Given the description of an element on the screen output the (x, y) to click on. 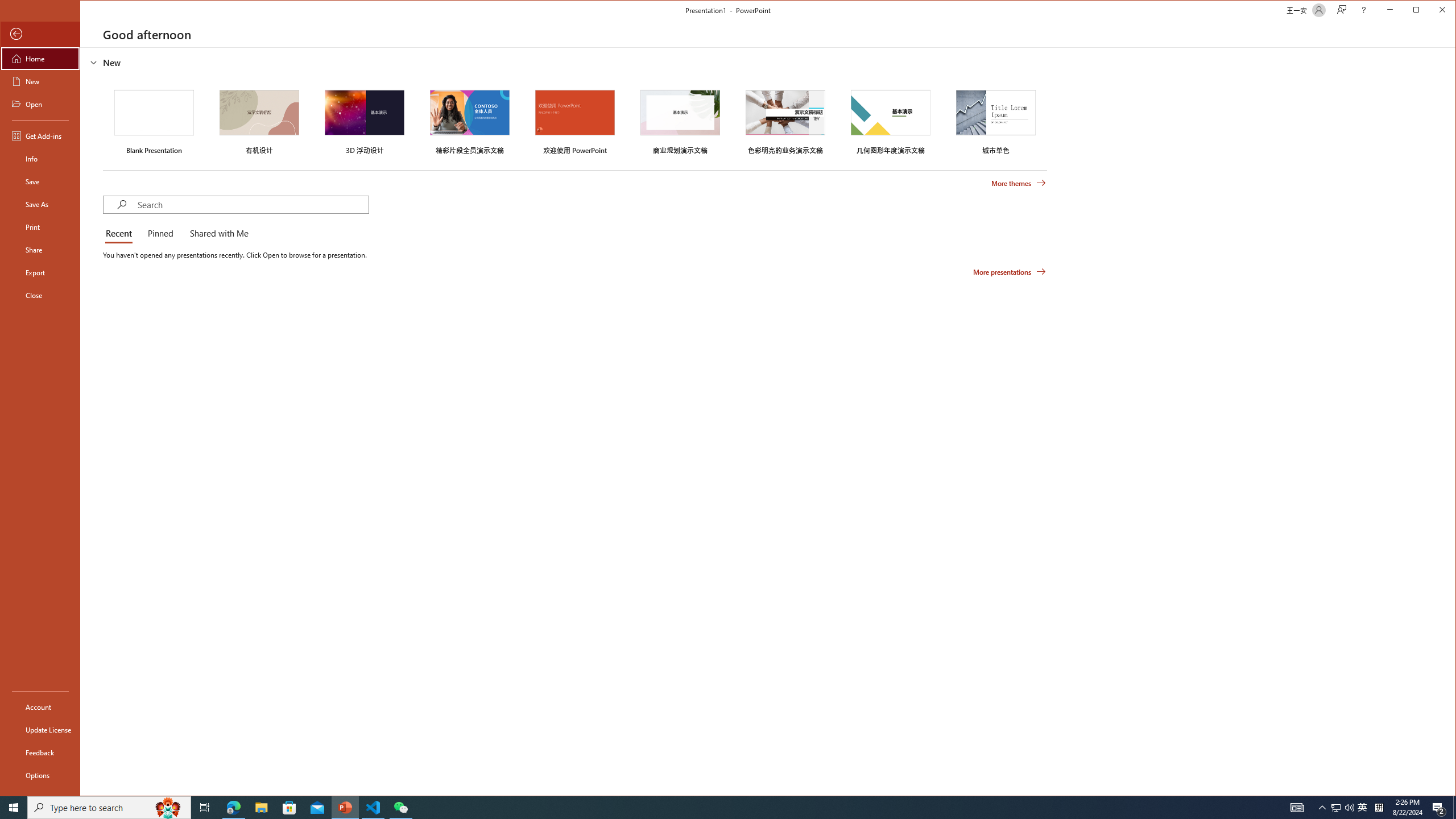
Save As (40, 203)
Recent (121, 234)
Search (253, 204)
Notification Chevron (1322, 807)
Search highlights icon opens search home window (167, 807)
Maximize (1432, 11)
User Promoted Notification Area (1342, 807)
New (40, 80)
Microsoft Store (289, 807)
Account (40, 706)
AutomationID: 4105 (1297, 807)
More presentations (1009, 271)
